Given the description of an element on the screen output the (x, y) to click on. 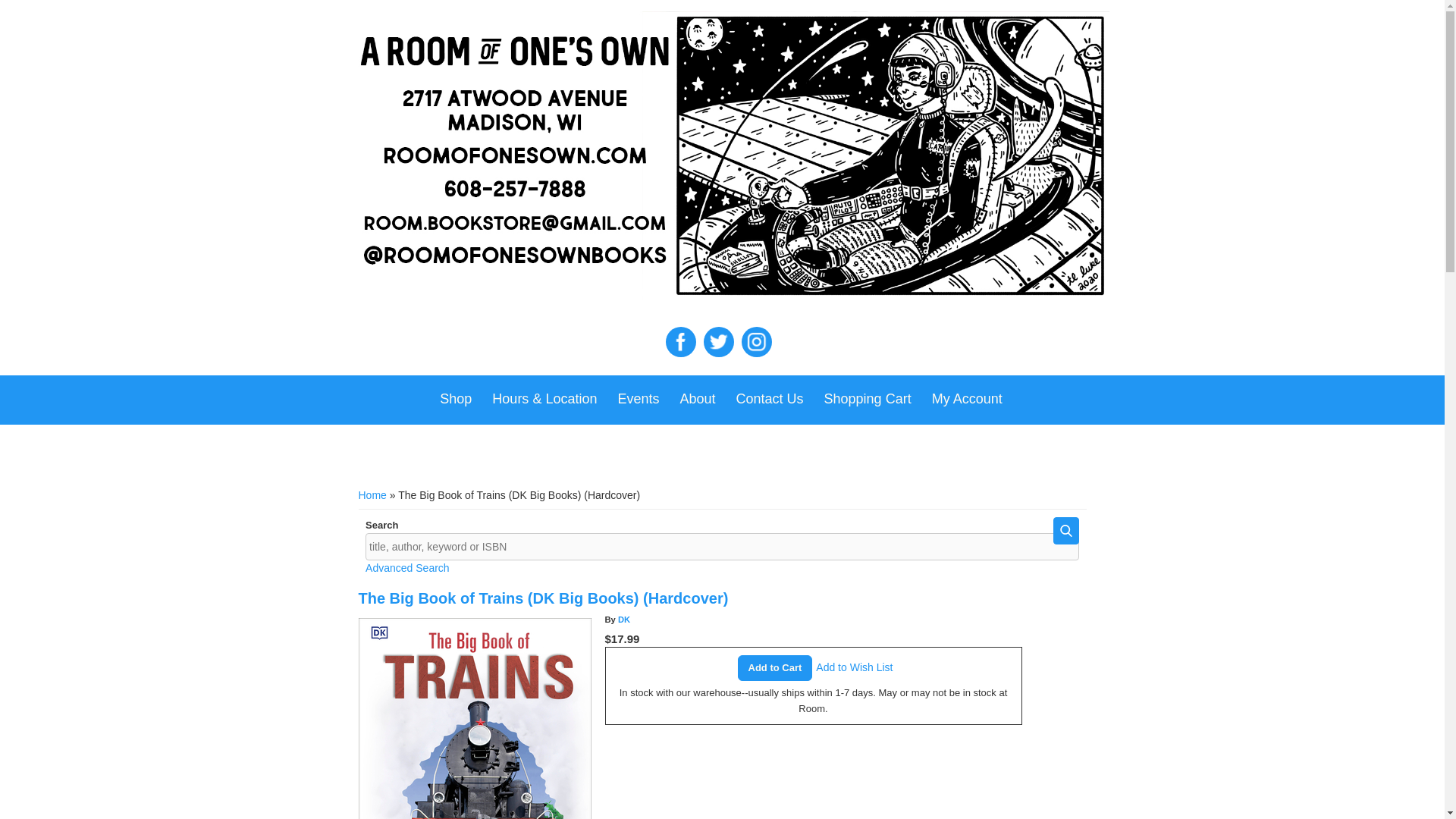
Browse the Catalogue (455, 399)
Add to Wish List (853, 666)
Shopping Cart (867, 399)
Add to Cart (775, 667)
Advanced Search (407, 567)
Shop (455, 399)
Home (371, 494)
Add to Cart (775, 667)
My Account (967, 399)
Search (1065, 530)
About (696, 399)
DK (623, 619)
Contact Us (769, 399)
Events (638, 399)
